Given the description of an element on the screen output the (x, y) to click on. 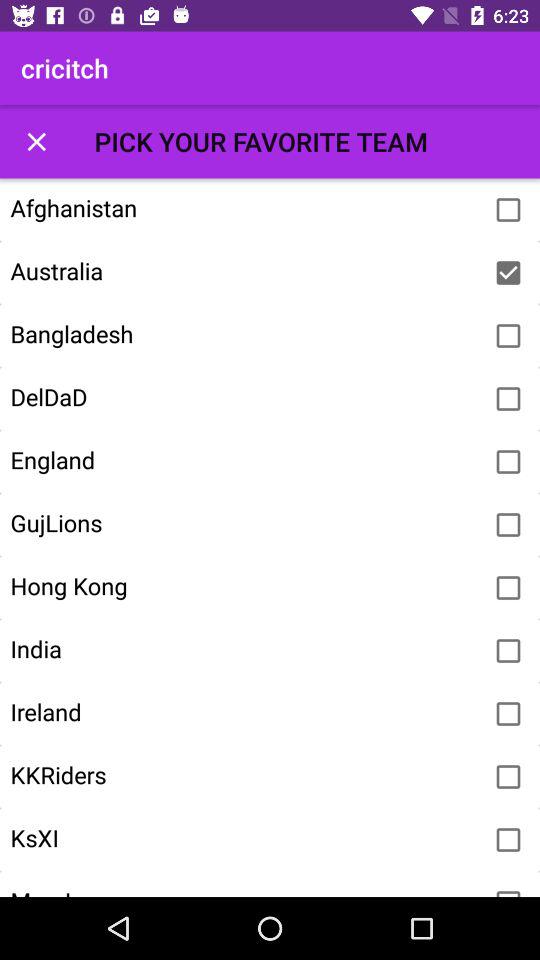
select team (508, 588)
